Given the description of an element on the screen output the (x, y) to click on. 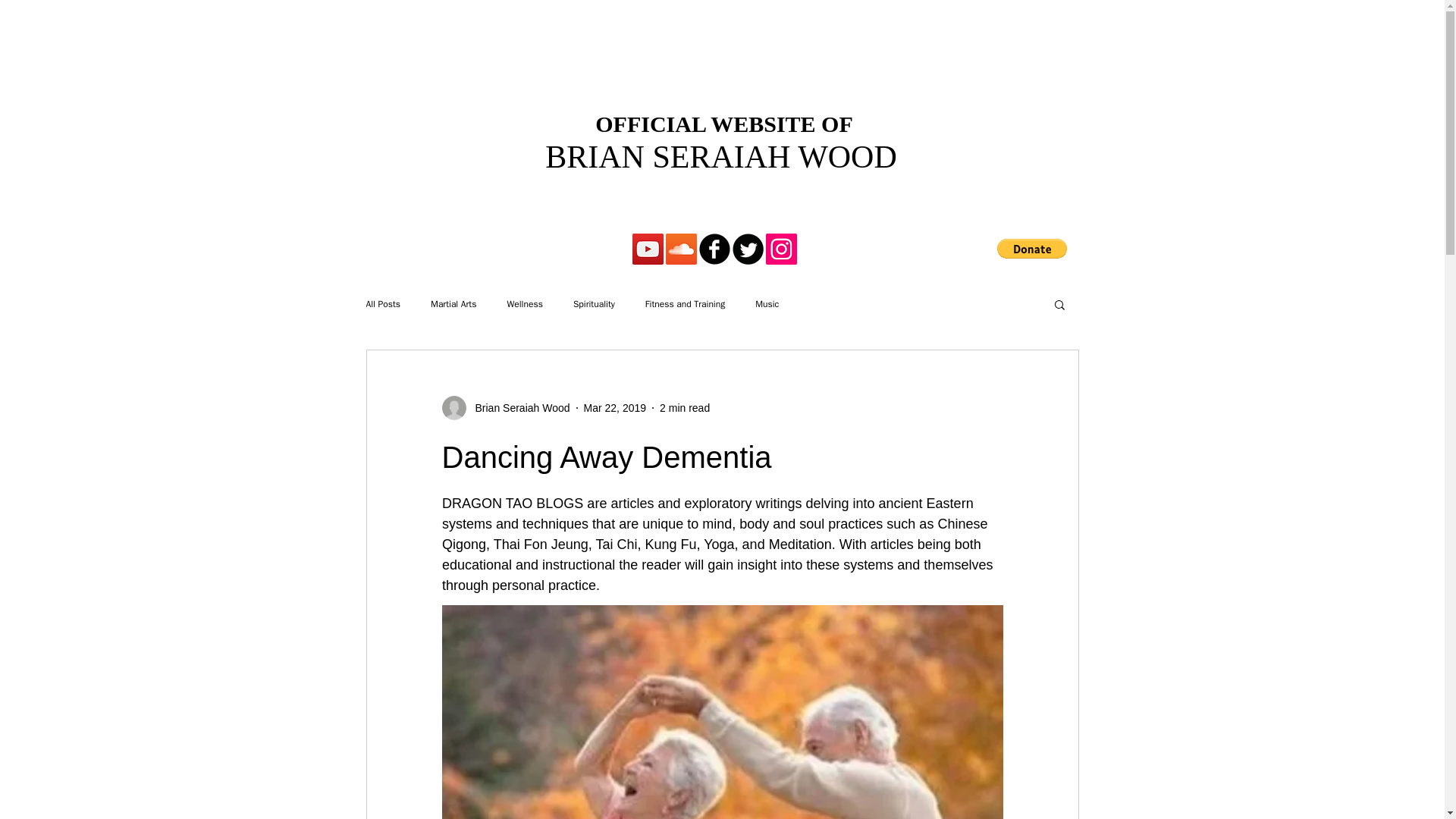
2 min read (684, 408)
Mar 22, 2019 (614, 408)
Spirituality (593, 303)
Wellness (523, 303)
All Posts (382, 303)
Brian Seraiah Wood (505, 407)
Brian Seraiah Wood (517, 408)
Martial Arts (453, 303)
Music (766, 303)
Fitness and Training (685, 303)
